Given the description of an element on the screen output the (x, y) to click on. 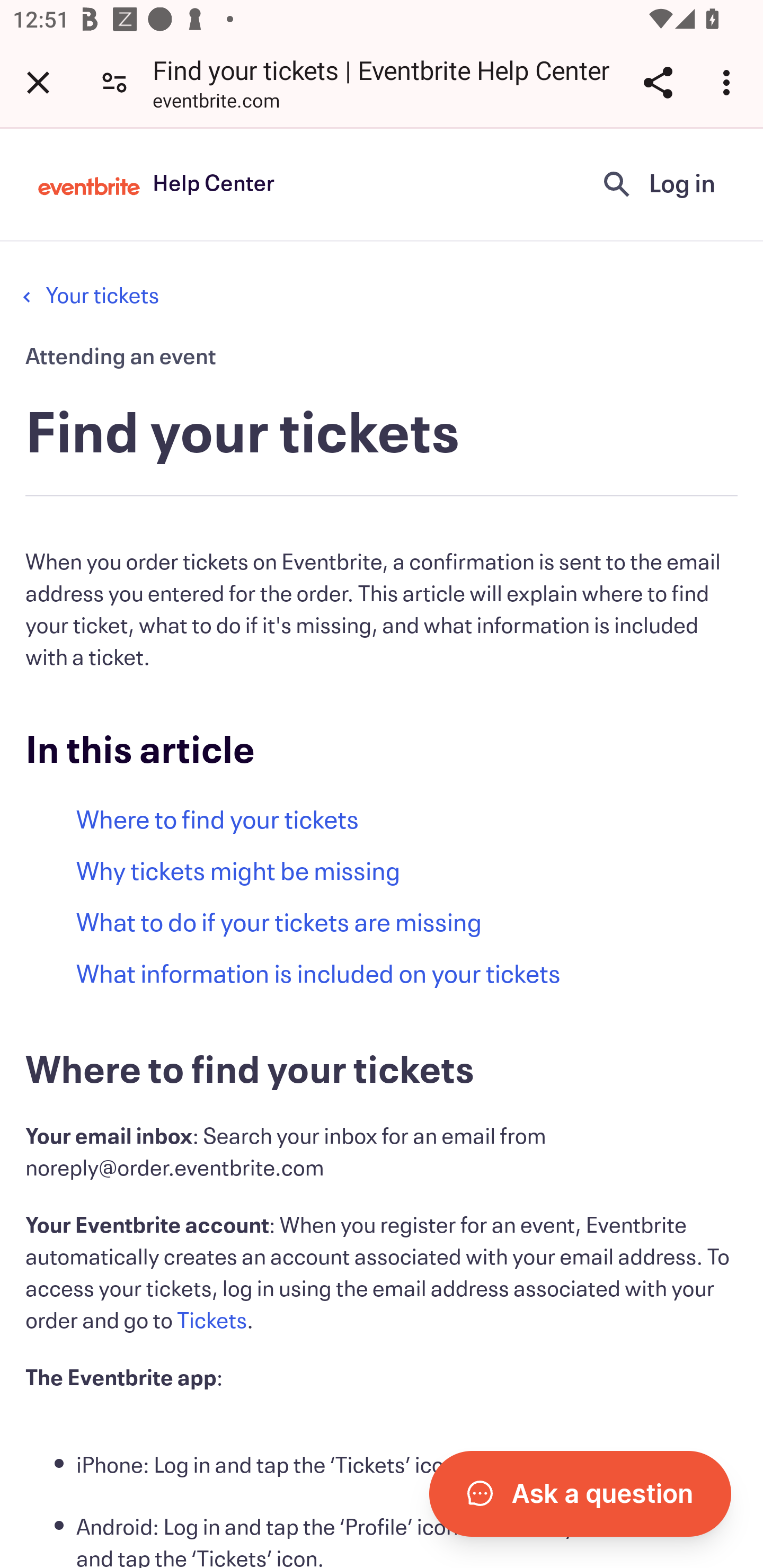
Close tab (38, 82)
Share (657, 82)
Customize and control Google Chrome (729, 82)
Connection is secure (114, 81)
eventbrite.com (216, 103)
Eventbrite Help Center Eventbrite logo Help Center (156, 184)
Log in (681, 183)
Your tickets (102, 295)
Tickets (211, 1321)
Open Chatbot (579, 1493)
